Given the description of an element on the screen output the (x, y) to click on. 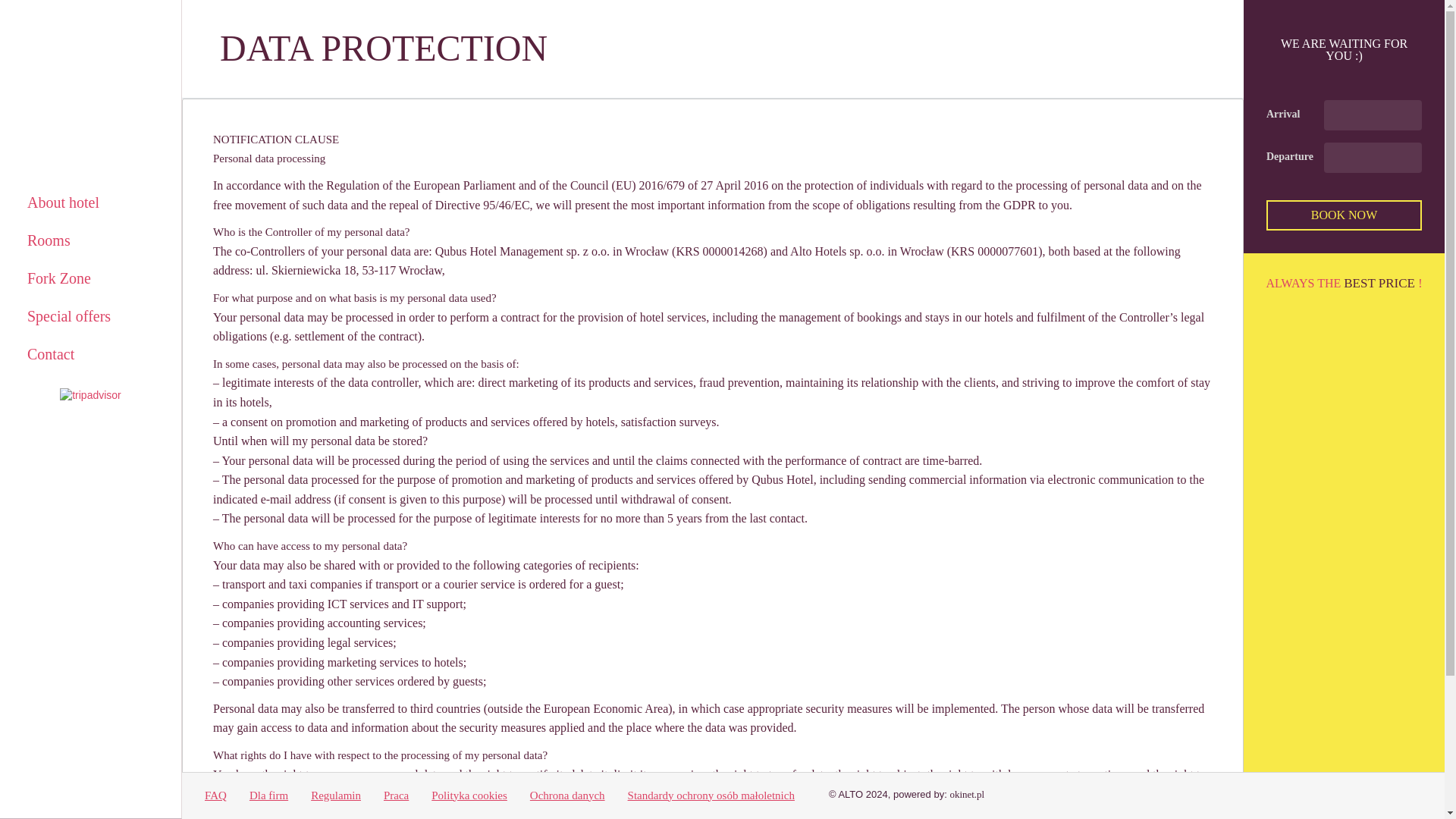
Praca (396, 795)
okinet.pl (966, 794)
Polityka cookies (468, 795)
Ochrona danych (567, 795)
Agencja interaktywna (966, 794)
Contact (90, 353)
Regulamin (336, 795)
Special offers (90, 315)
Dla firm (268, 795)
About hotel (90, 202)
Fork Zone (90, 278)
alto (90, 98)
Rooms (90, 240)
FAQ (216, 795)
BOOK NOW (1344, 214)
